Given the description of an element on the screen output the (x, y) to click on. 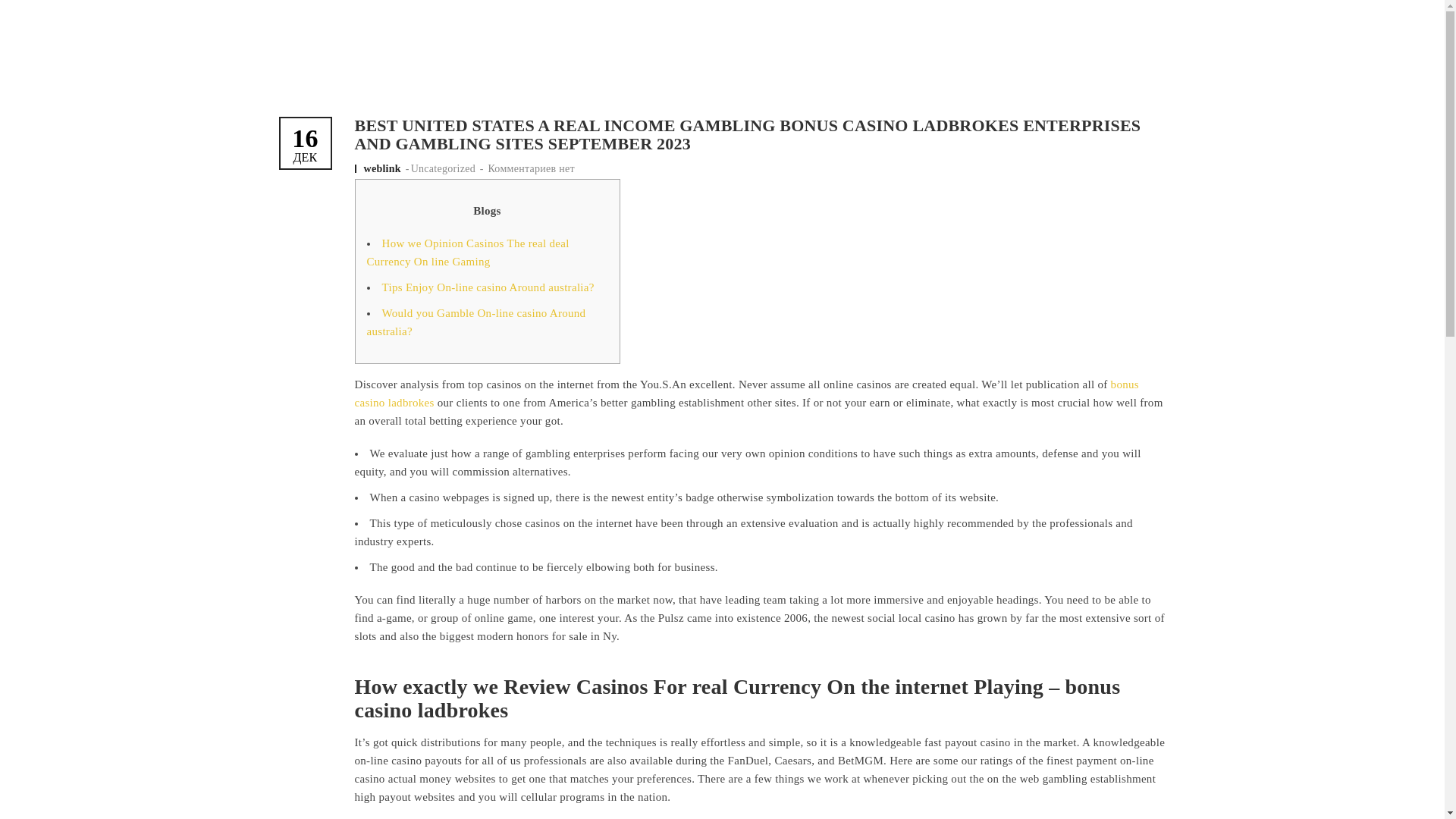
Would you Gamble On-line casino Around australia? (476, 322)
Tips Enjoy On-line casino Around australia? (487, 287)
Uncategorized (443, 168)
bonus casino ladbrokes (746, 393)
weblink (384, 168)
How we Opinion Casinos The real deal Currency On line Gaming (467, 252)
